Given the description of an element on the screen output the (x, y) to click on. 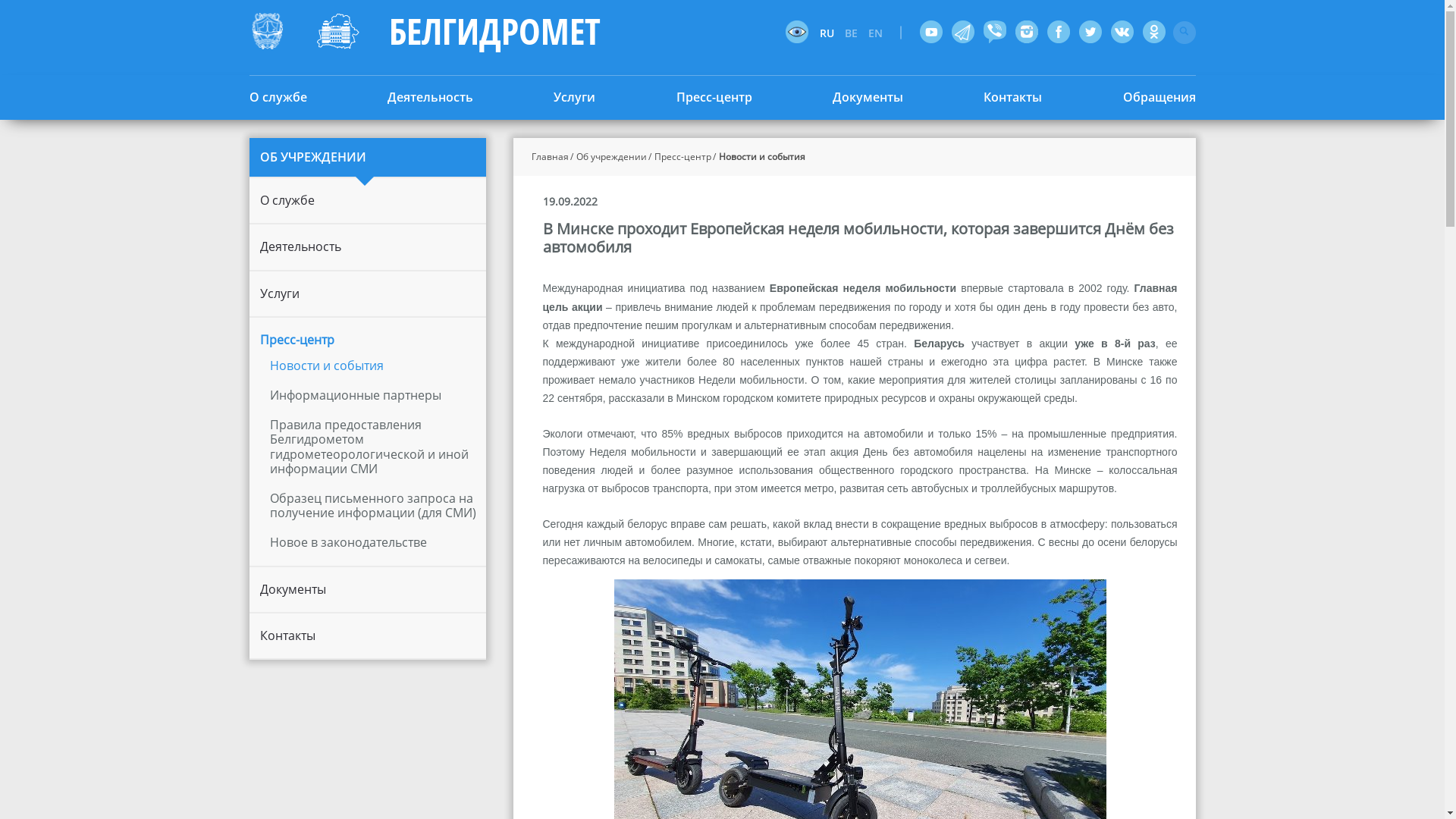
ok.ru Element type: hover (1153, 32)
vkontakte Element type: hover (1121, 31)
ok.ru Element type: hover (1153, 31)
EN Element type: text (878, 33)
RU Element type: text (829, 32)
twitter Element type: hover (1089, 31)
facebook Element type: hover (1057, 31)
youtube Element type: hover (930, 32)
twitter Element type: hover (1089, 32)
telegram Element type: hover (961, 32)
instagram Element type: hover (1025, 31)
telegram Element type: hover (961, 31)
youtube Element type: hover (930, 31)
viber Element type: hover (993, 32)
BE Element type: text (854, 33)
vkontakte Element type: hover (1121, 32)
viber Element type: hover (993, 31)
instagram Element type: hover (1025, 32)
facebook Element type: hover (1057, 32)
